Given the description of an element on the screen output the (x, y) to click on. 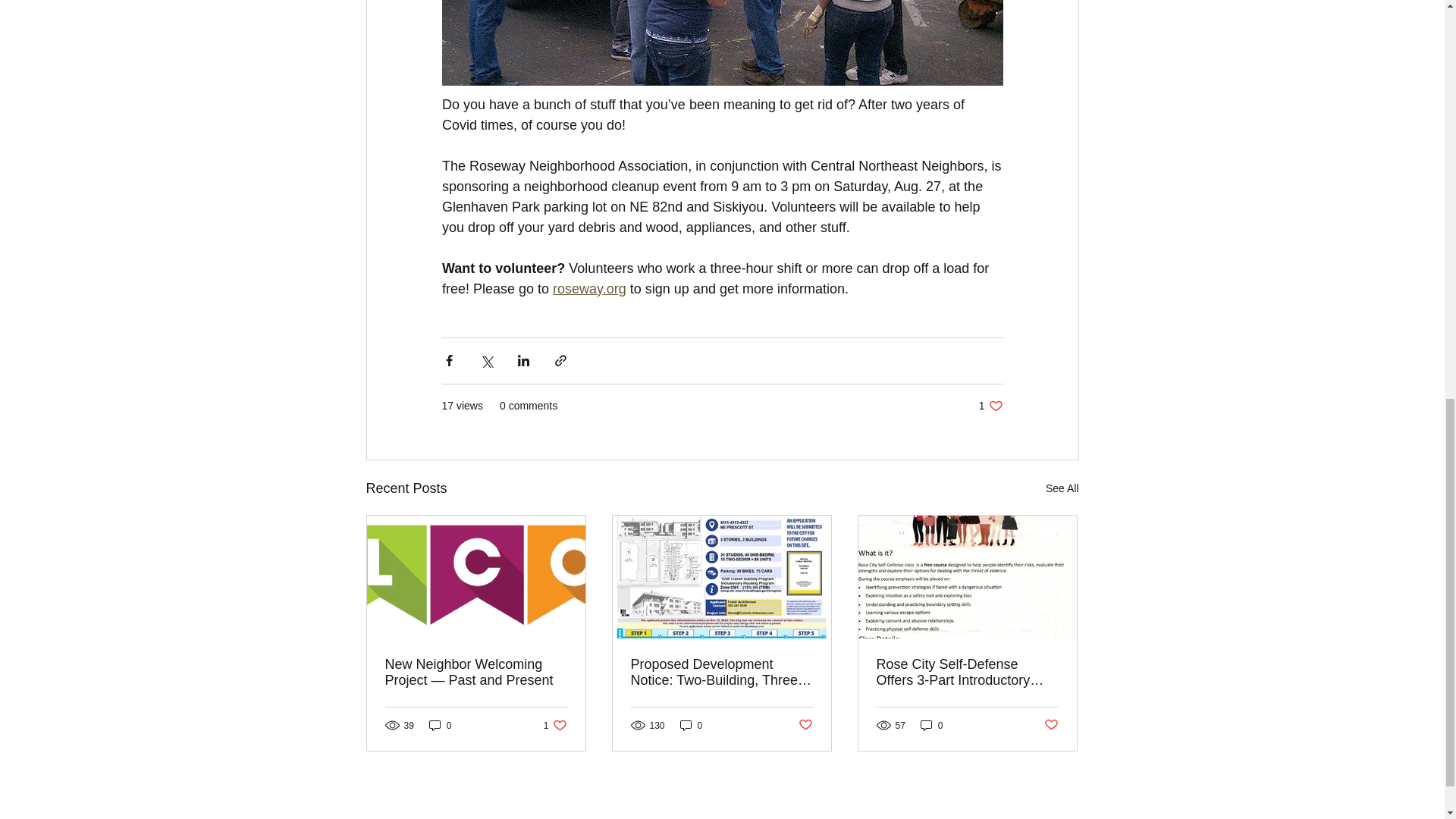
0 (440, 725)
0 (931, 725)
Post not marked as liked (804, 725)
roseway.org (589, 288)
See All (1061, 488)
Post not marked as liked (1050, 725)
0 (691, 725)
